Given the description of an element on the screen output the (x, y) to click on. 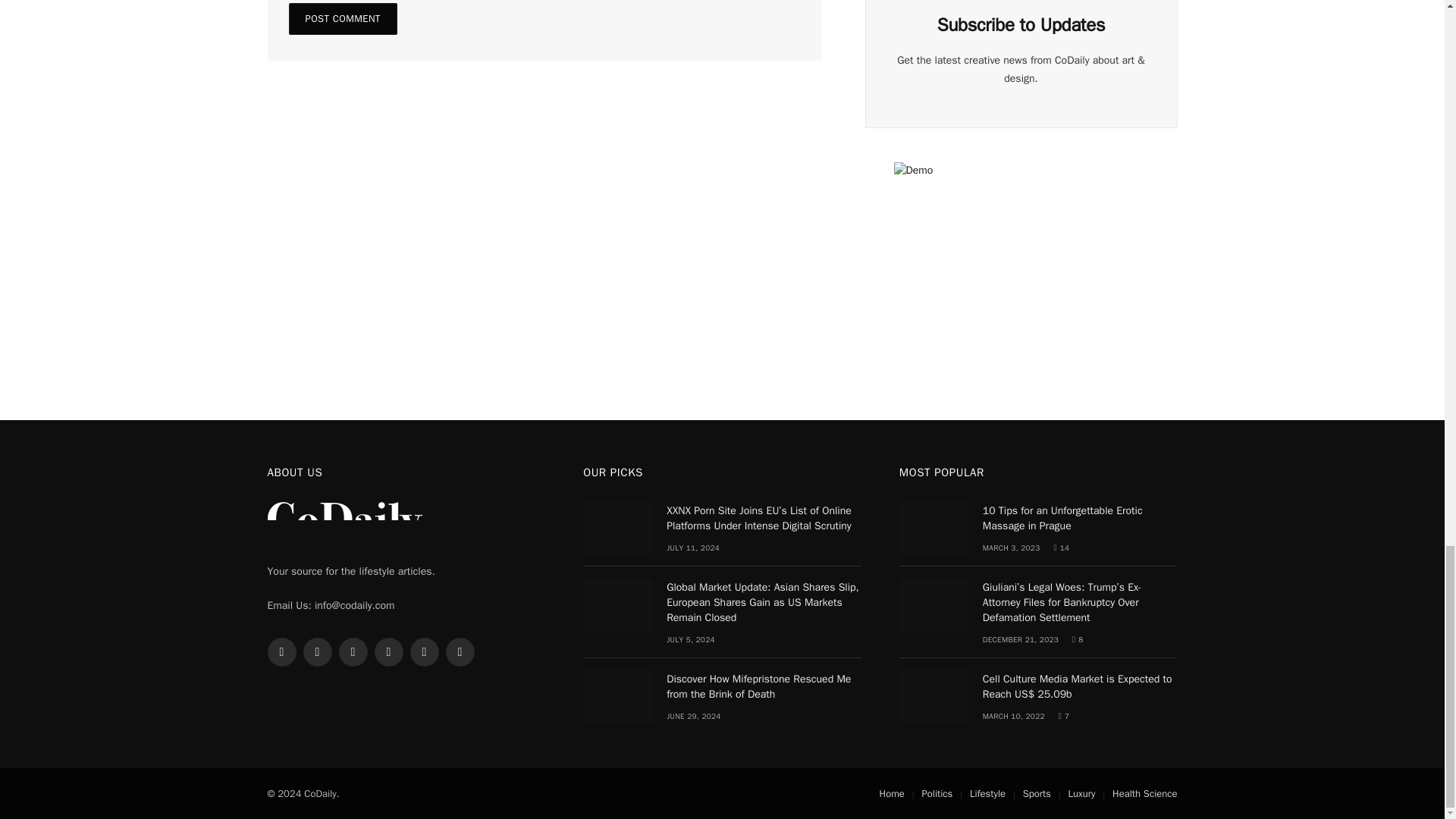
Post Comment (342, 19)
